Given the description of an element on the screen output the (x, y) to click on. 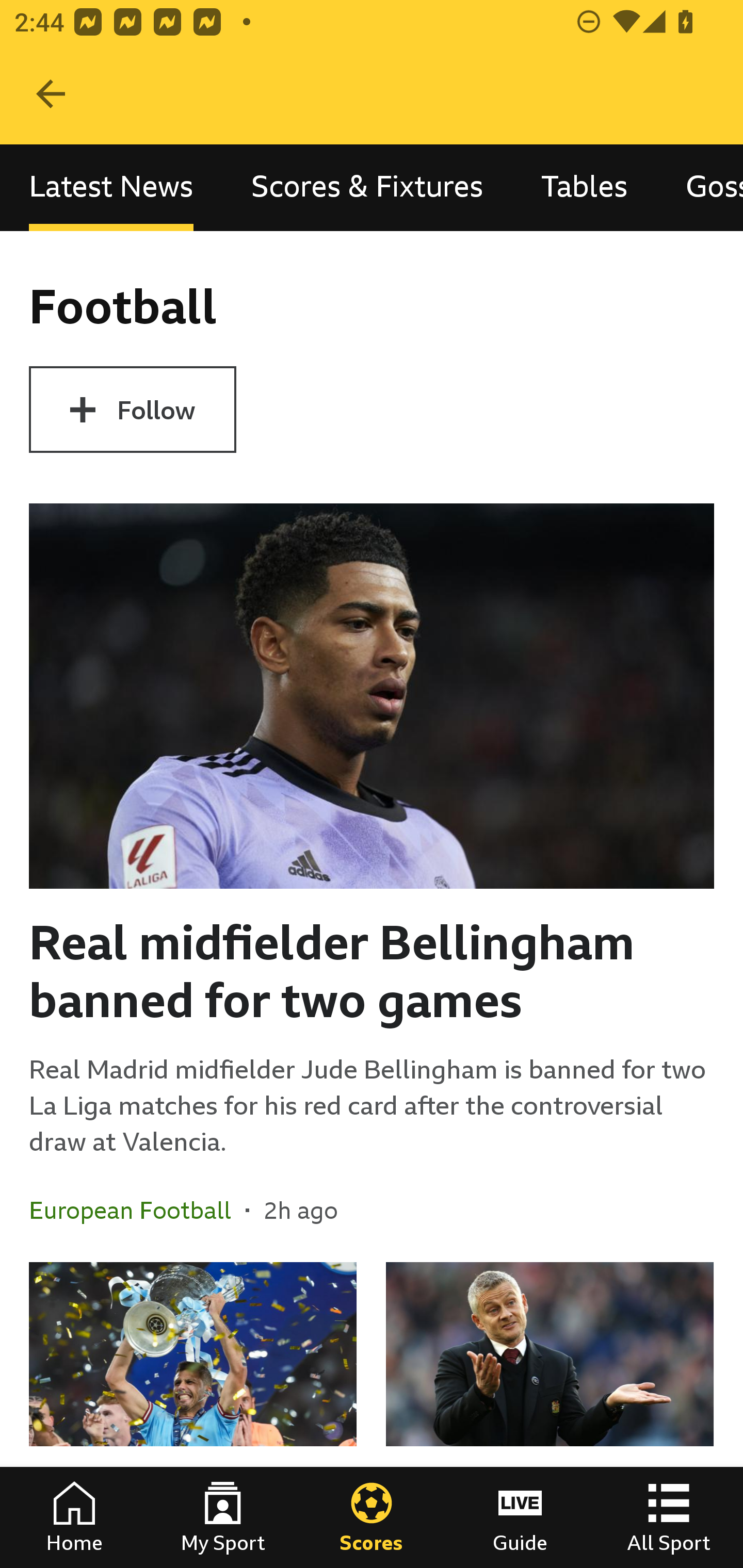
Navigate up (50, 93)
Latest News, selected Latest News (111, 187)
Scores & Fixtures (367, 187)
Tables (584, 187)
Gossip (699, 187)
Follow Football Follow (132, 409)
European Football In the section European Football (136, 1209)
No 'magic wand' for Man Utd - ex-boss Solskjaer (549, 1415)
Home (74, 1517)
My Sport (222, 1517)
Guide (519, 1517)
All Sport (668, 1517)
